Given the description of an element on the screen output the (x, y) to click on. 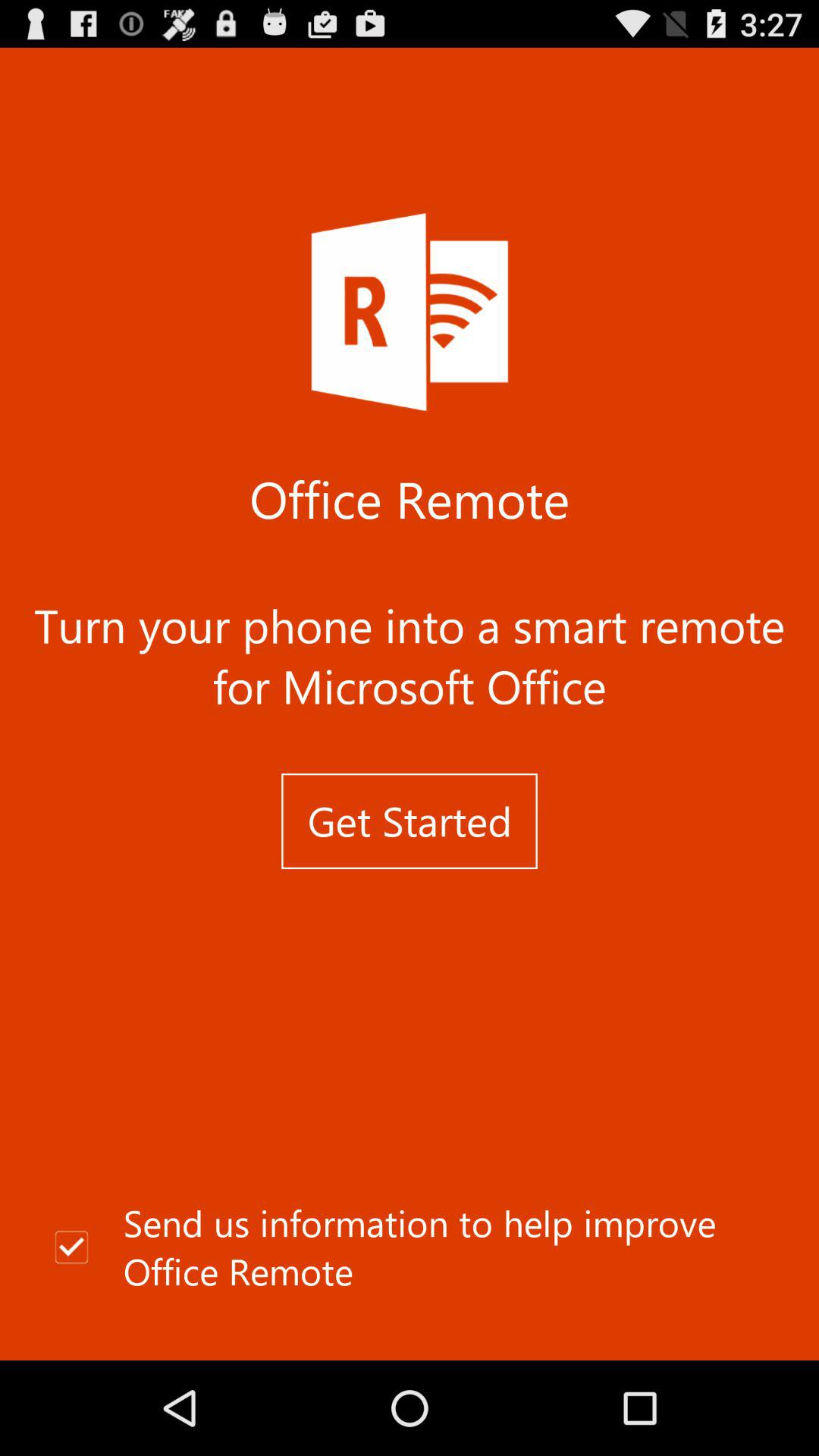
tap the item above the send us information icon (409, 821)
